Given the description of an element on the screen output the (x, y) to click on. 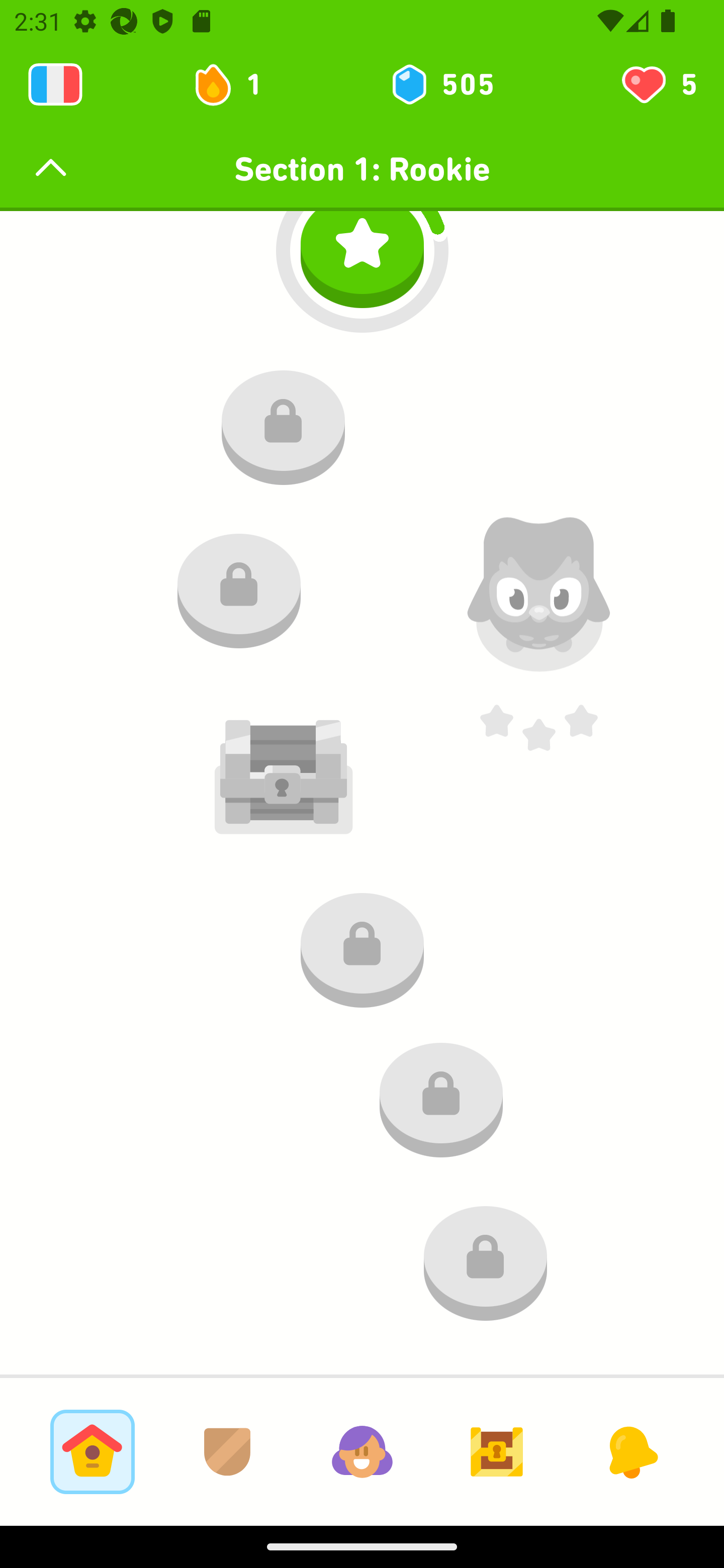
Learning 2131888976 (55, 84)
1 day streak 1 (236, 84)
505 (441, 84)
You have 5 hearts left 5 (657, 84)
Section 1: Rookie (362, 169)
Learn Tab (91, 1451)
Leagues Tab (227, 1451)
Profile Tab (361, 1451)
Goals Tab (496, 1451)
News Tab (631, 1451)
